Given the description of an element on the screen output the (x, y) to click on. 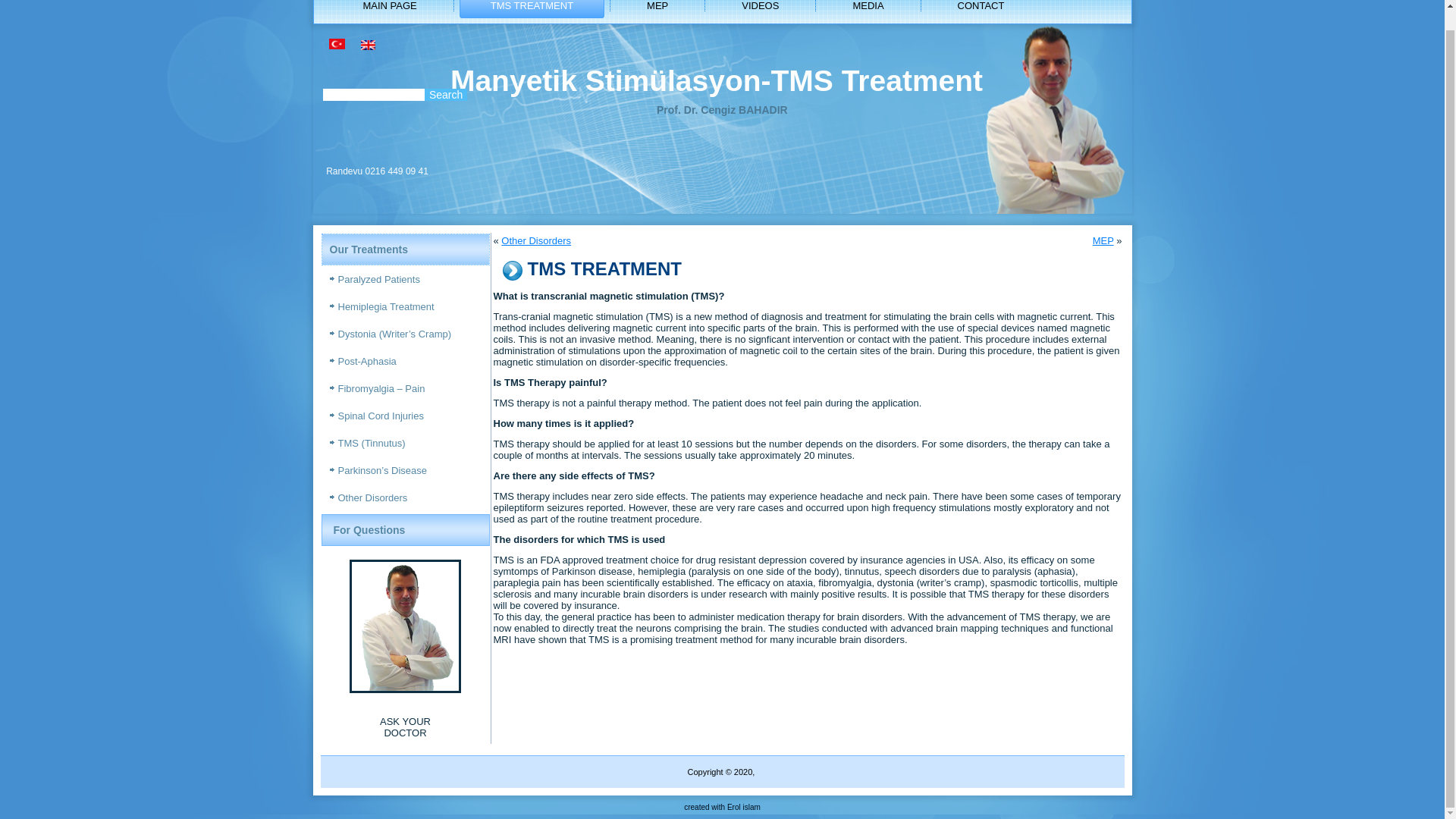
CONTACT (980, 9)
MEP (1103, 240)
VIDEOS (759, 9)
Hemiplegia Treatment (404, 307)
TMS TREATMENT (532, 9)
Paralyzed Patients (404, 279)
Search (446, 94)
Other Disorders (404, 497)
Other Disorders (535, 240)
VIDEOS (759, 9)
